Given the description of an element on the screen output the (x, y) to click on. 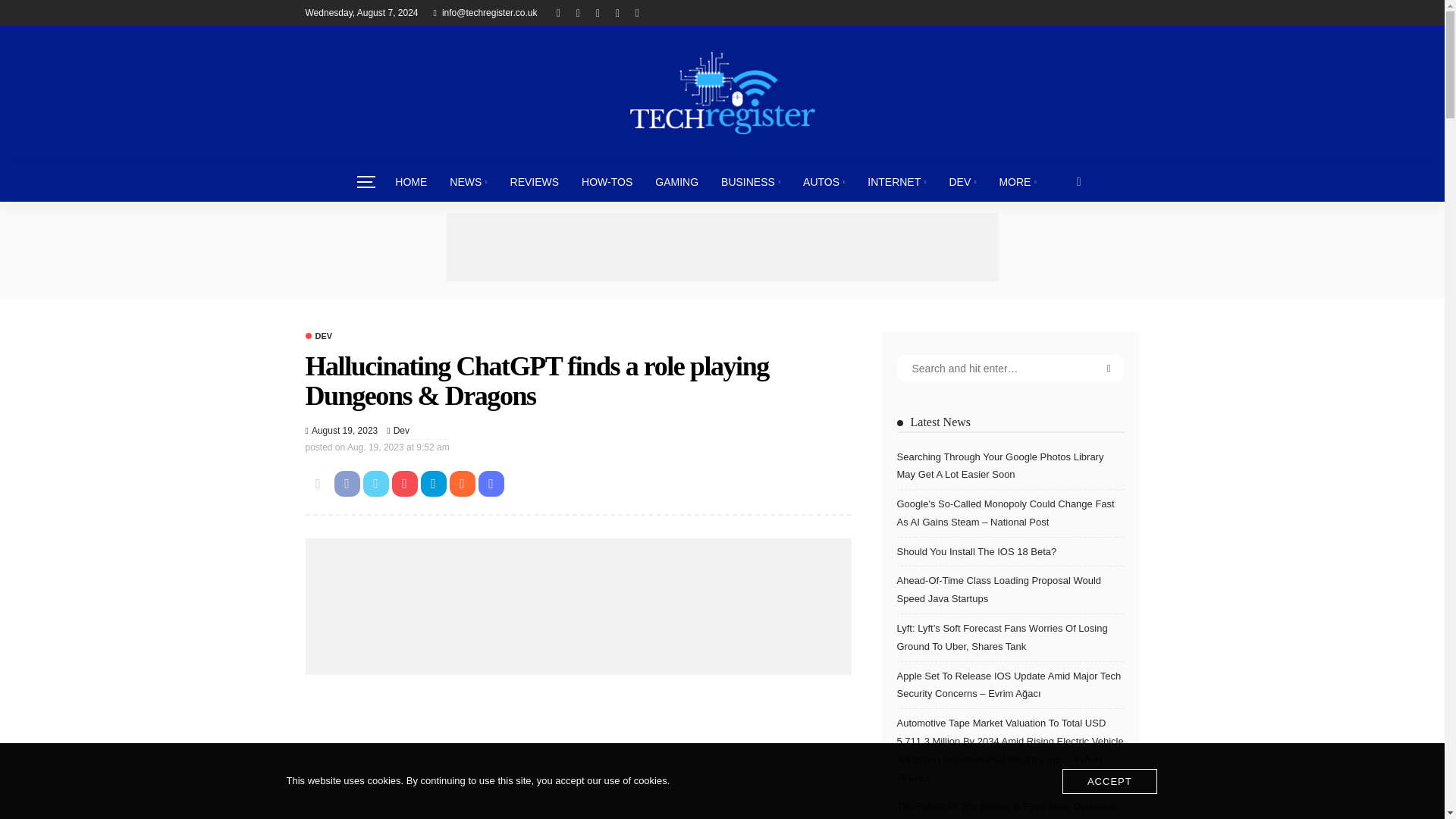
Dev (401, 430)
Techregister (721, 93)
Advertisement (721, 246)
Dev (317, 336)
search (1079, 181)
Advertisement (577, 754)
